Given the description of an element on the screen output the (x, y) to click on. 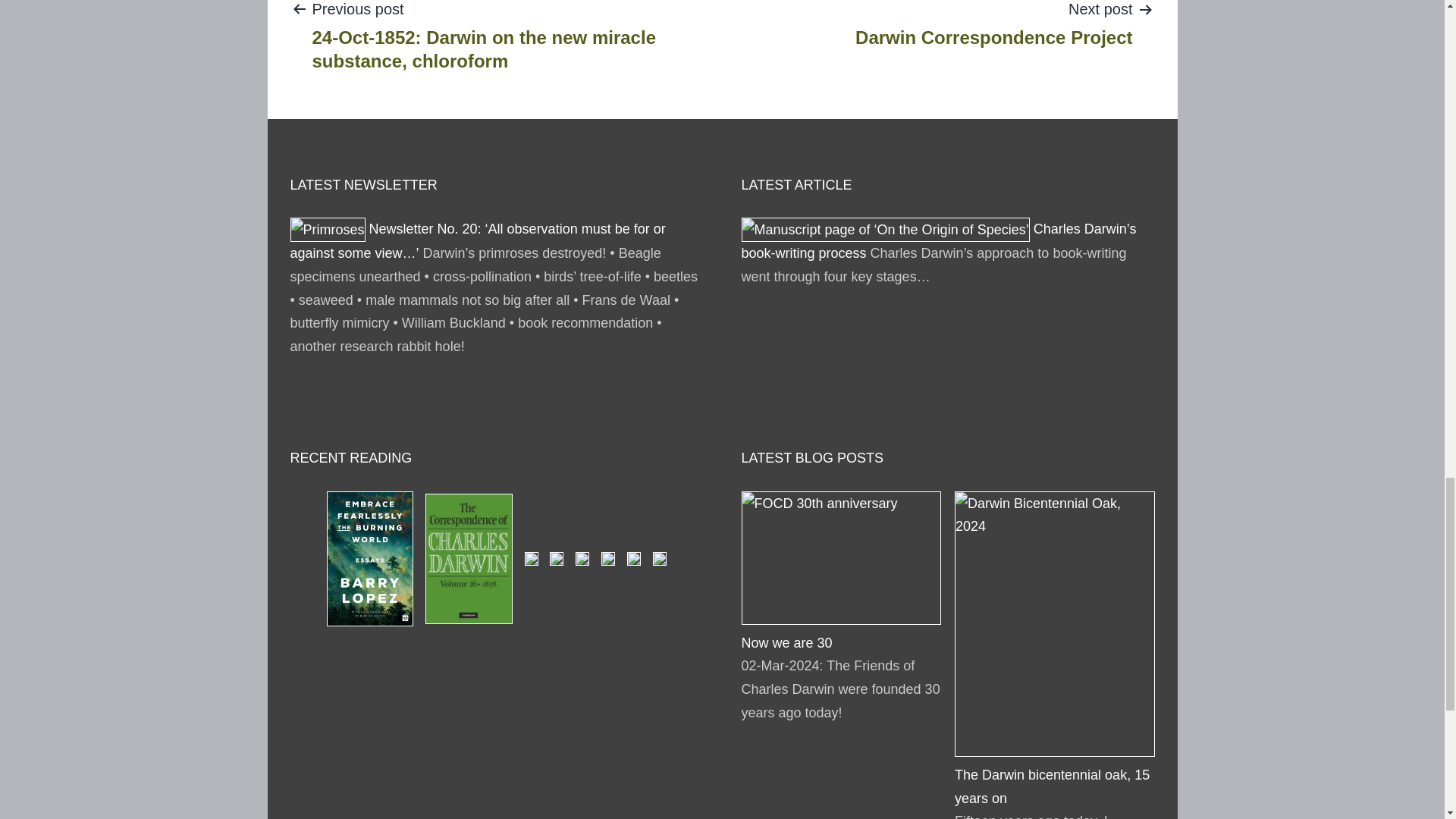
RECENT READING (350, 458)
LATEST NEWSLETTER (993, 24)
LATEST ARTICLE (362, 184)
